Given the description of an element on the screen output the (x, y) to click on. 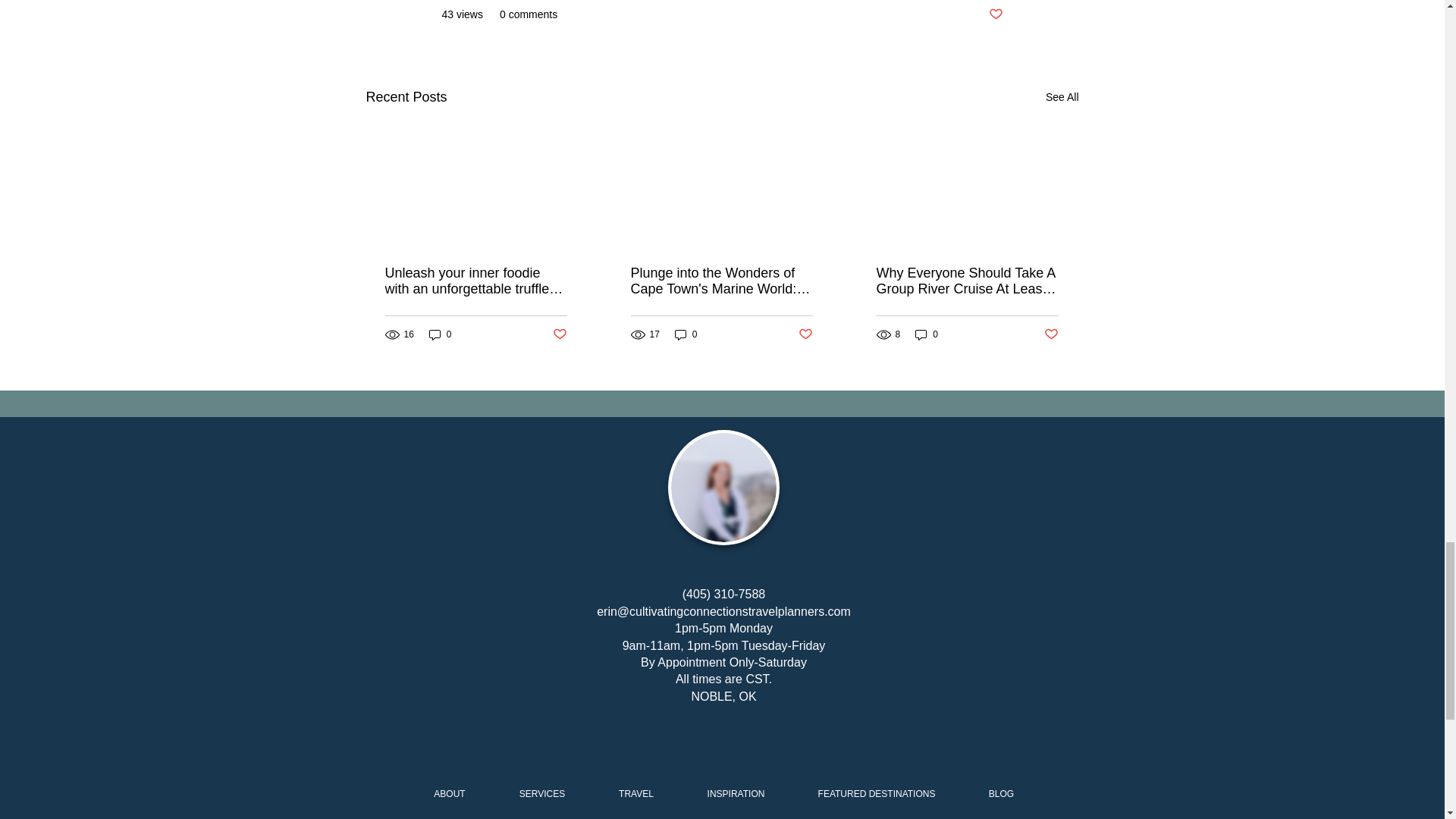
0 (685, 334)
ABOUT (449, 794)
0 (926, 334)
Post not marked as liked (1050, 334)
SERVICES (542, 794)
Post not marked as liked (558, 334)
0 (440, 334)
Post not marked as liked (995, 14)
